Given the description of an element on the screen output the (x, y) to click on. 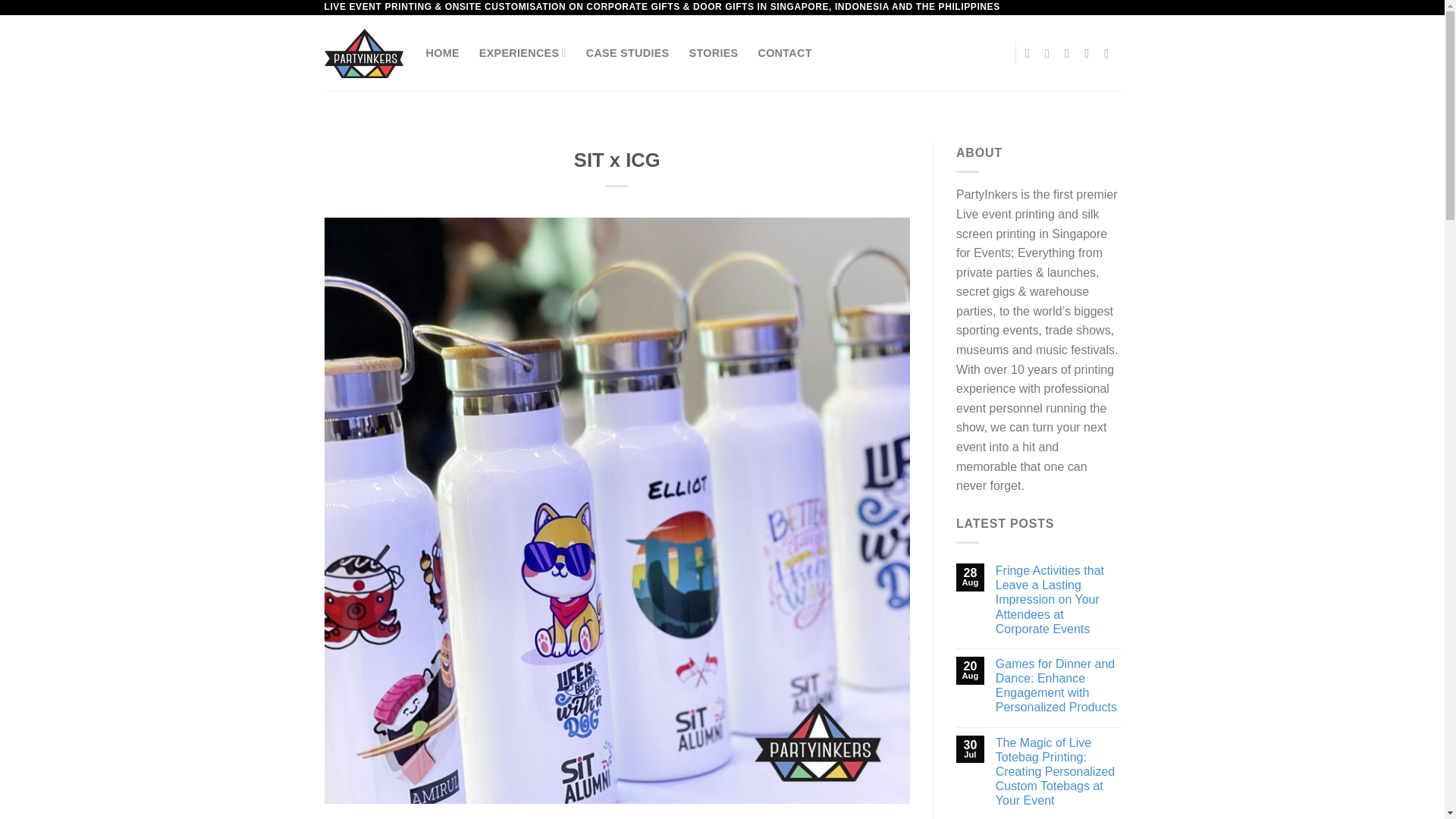
HOME (443, 52)
CONTACT (783, 52)
STORIES (713, 52)
Call us (1090, 52)
Follow on YouTube (1109, 52)
EXPERIENCES (522, 52)
